Given the description of an element on the screen output the (x, y) to click on. 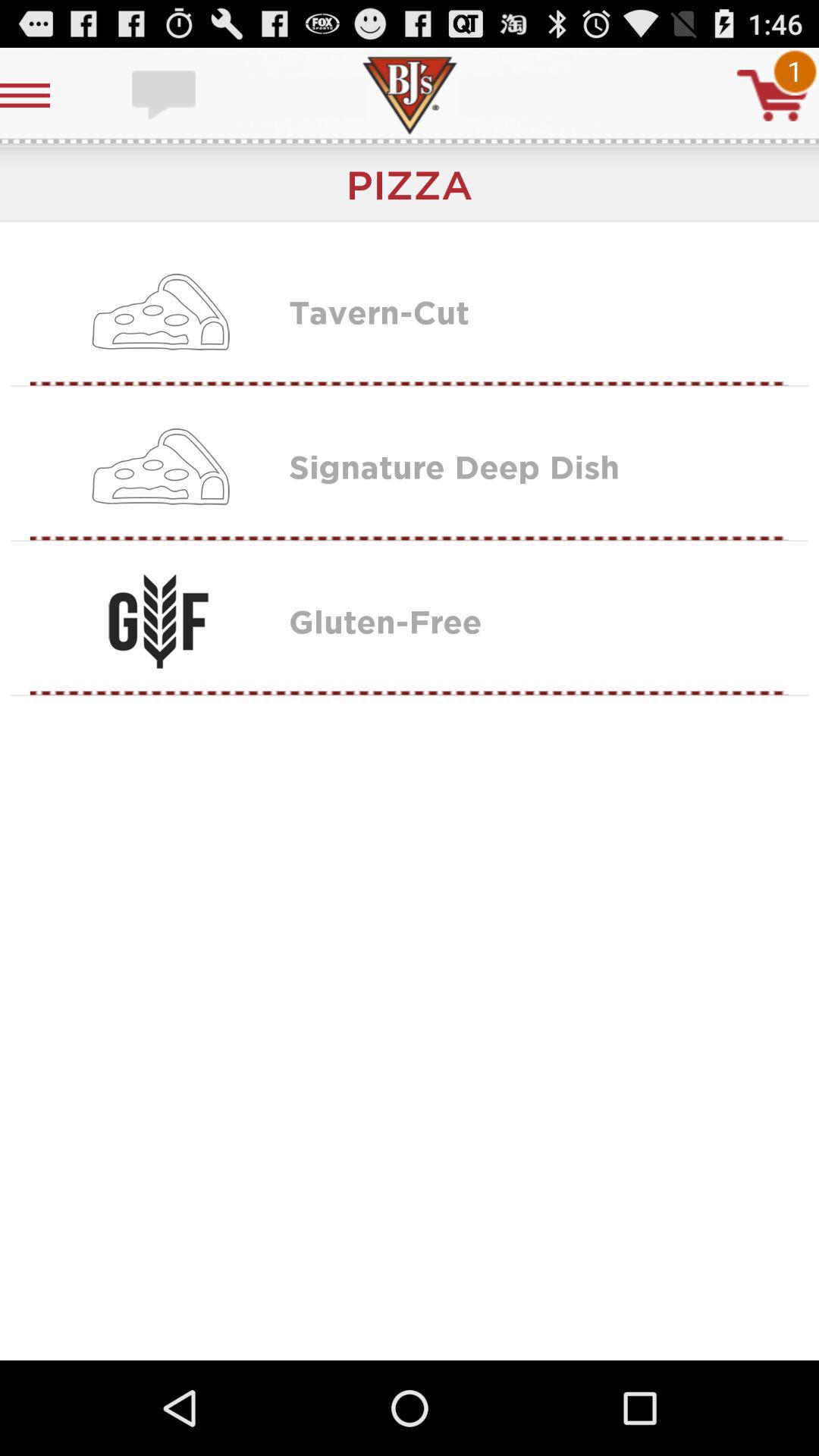
shopping cart check out (772, 95)
